Given the description of an element on the screen output the (x, y) to click on. 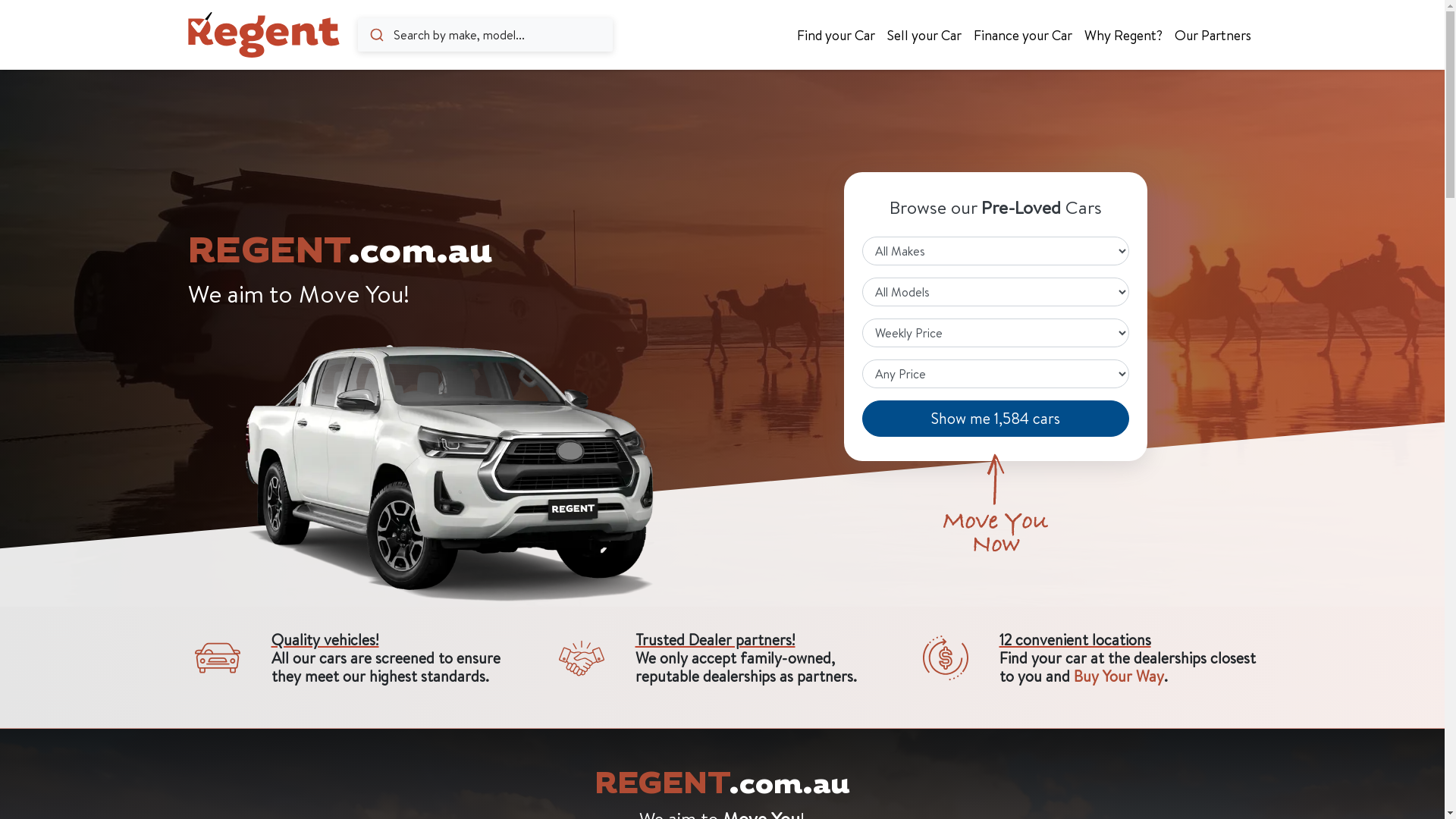
Finance your Car Element type: text (1022, 34)
Find your Car Element type: text (835, 34)
Submit Element type: hover (375, 34)
Our Partners Element type: text (1211, 34)
Sell your Car Element type: text (924, 34)
Show me 1,584 cars Element type: text (994, 418)
Why Regent? Element type: text (1123, 34)
